Given the description of an element on the screen output the (x, y) to click on. 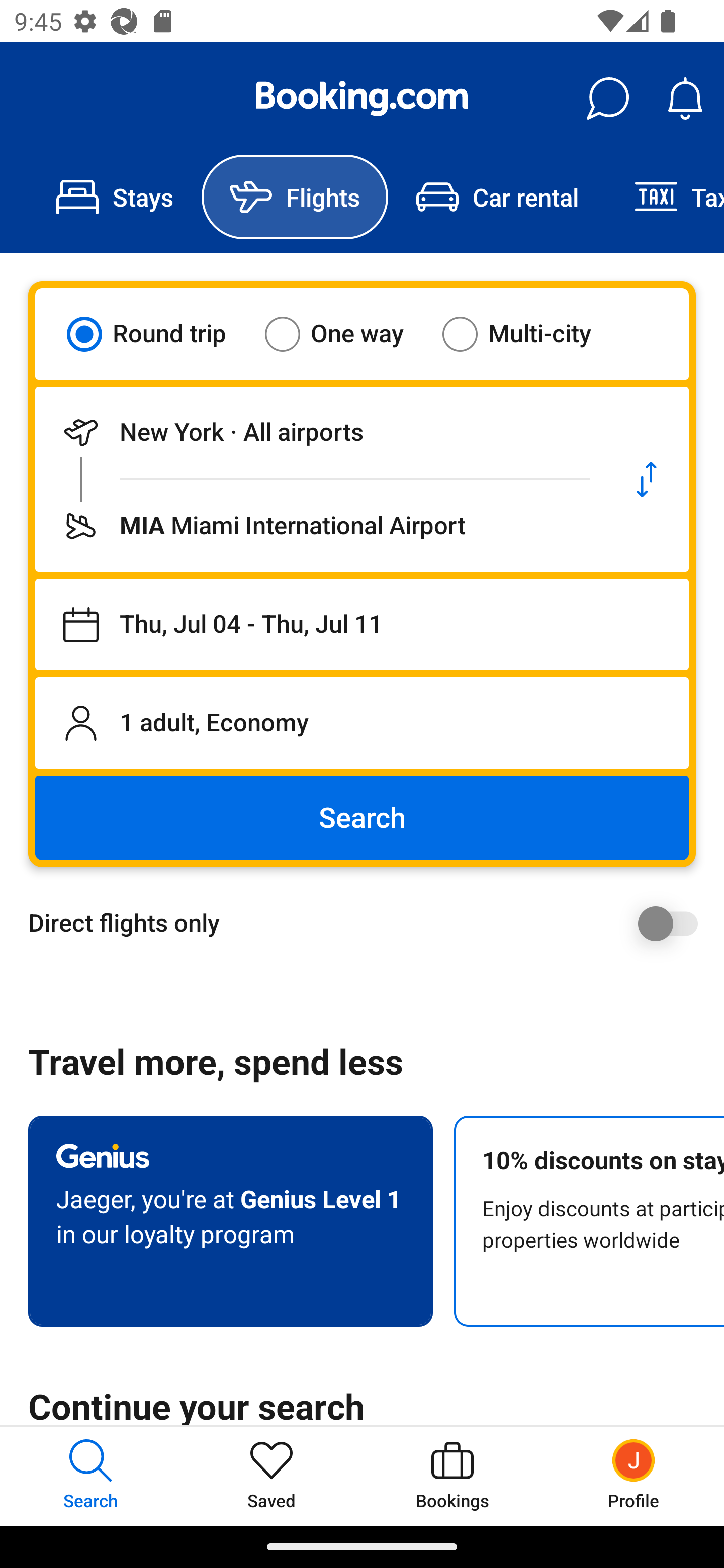
Messages (607, 98)
Notifications (685, 98)
Stays (114, 197)
Flights (294, 197)
Car rental (497, 197)
Taxi (665, 197)
One way (346, 333)
Multi-city (528, 333)
Departing from New York · All airports (319, 432)
Swap departure location and destination (646, 479)
Flying to MIA Miami International Airport (319, 525)
Departing on Thu, Jul 04, returning on Thu, Jul 11 (361, 624)
1 adult, Economy (361, 722)
Search (361, 818)
Direct flights only (369, 923)
Saved (271, 1475)
Bookings (452, 1475)
Profile (633, 1475)
